Given the description of an element on the screen output the (x, y) to click on. 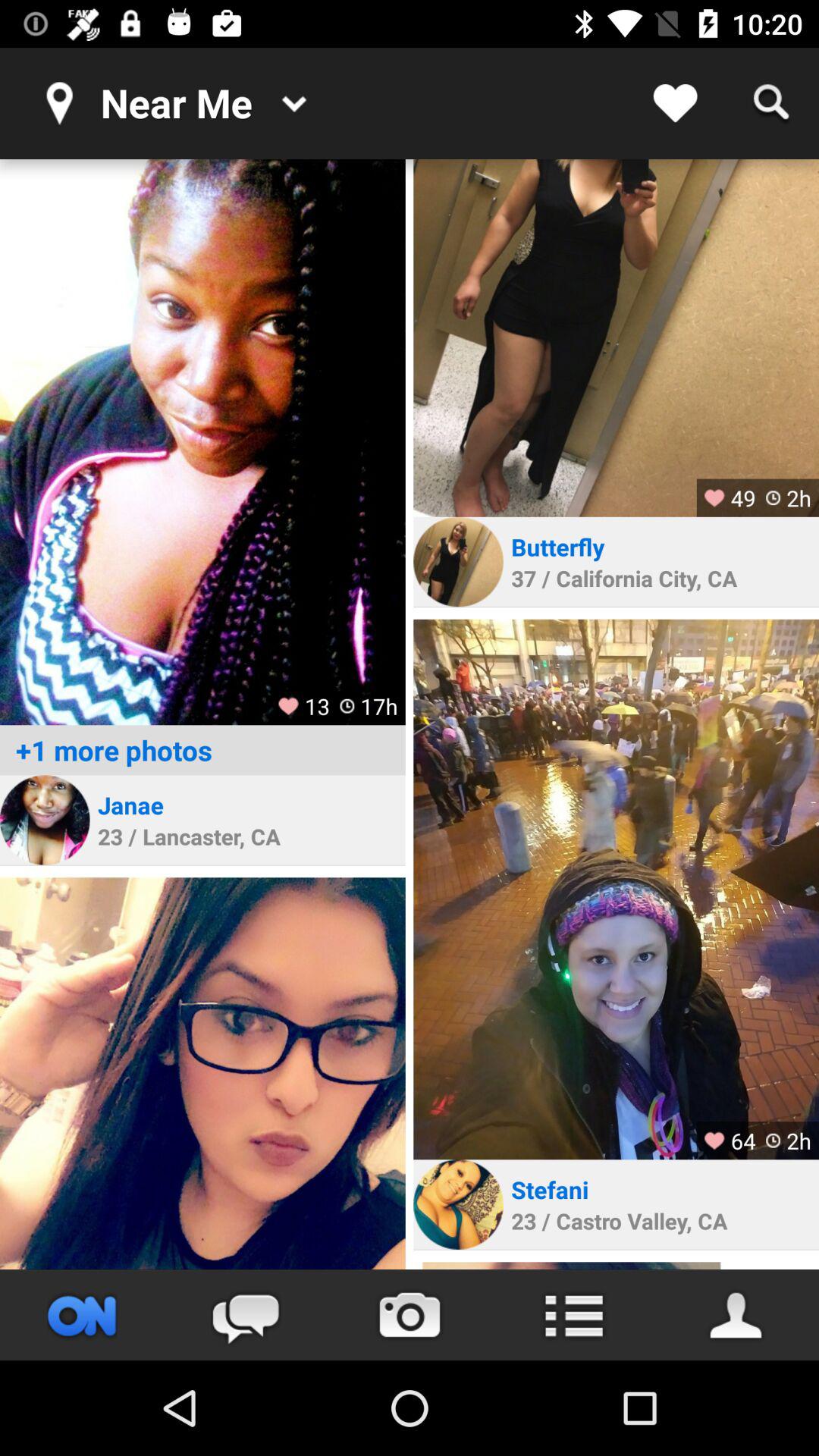
open menu (573, 1315)
